Given the description of an element on the screen output the (x, y) to click on. 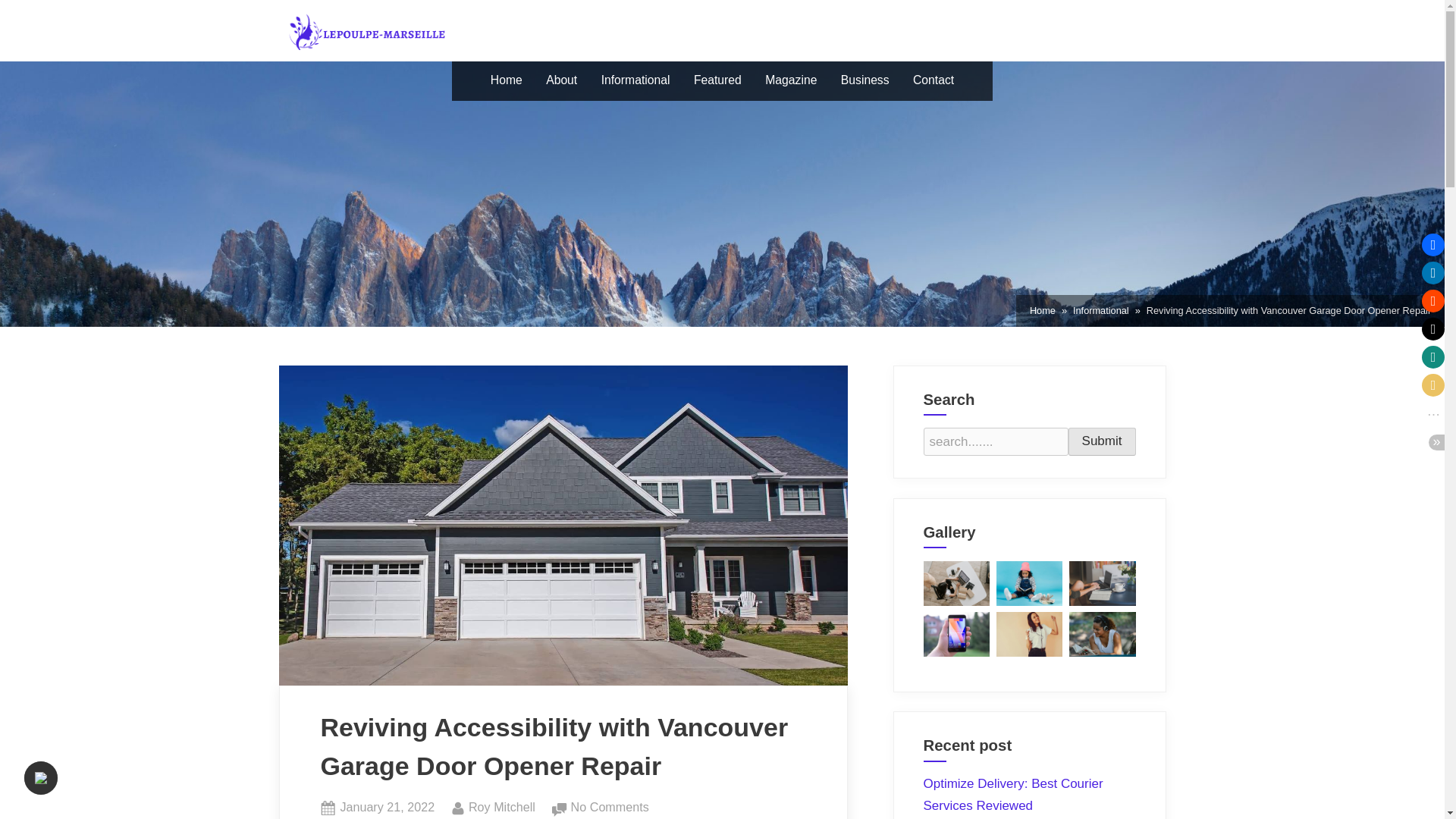
Home (506, 80)
Magazine (791, 80)
Informational (386, 807)
Optimize Delivery: Best Courier Services Reviewed (1101, 310)
Home (1013, 794)
Submit (1042, 310)
Business (501, 807)
Contact (1101, 441)
